Given the description of an element on the screen output the (x, y) to click on. 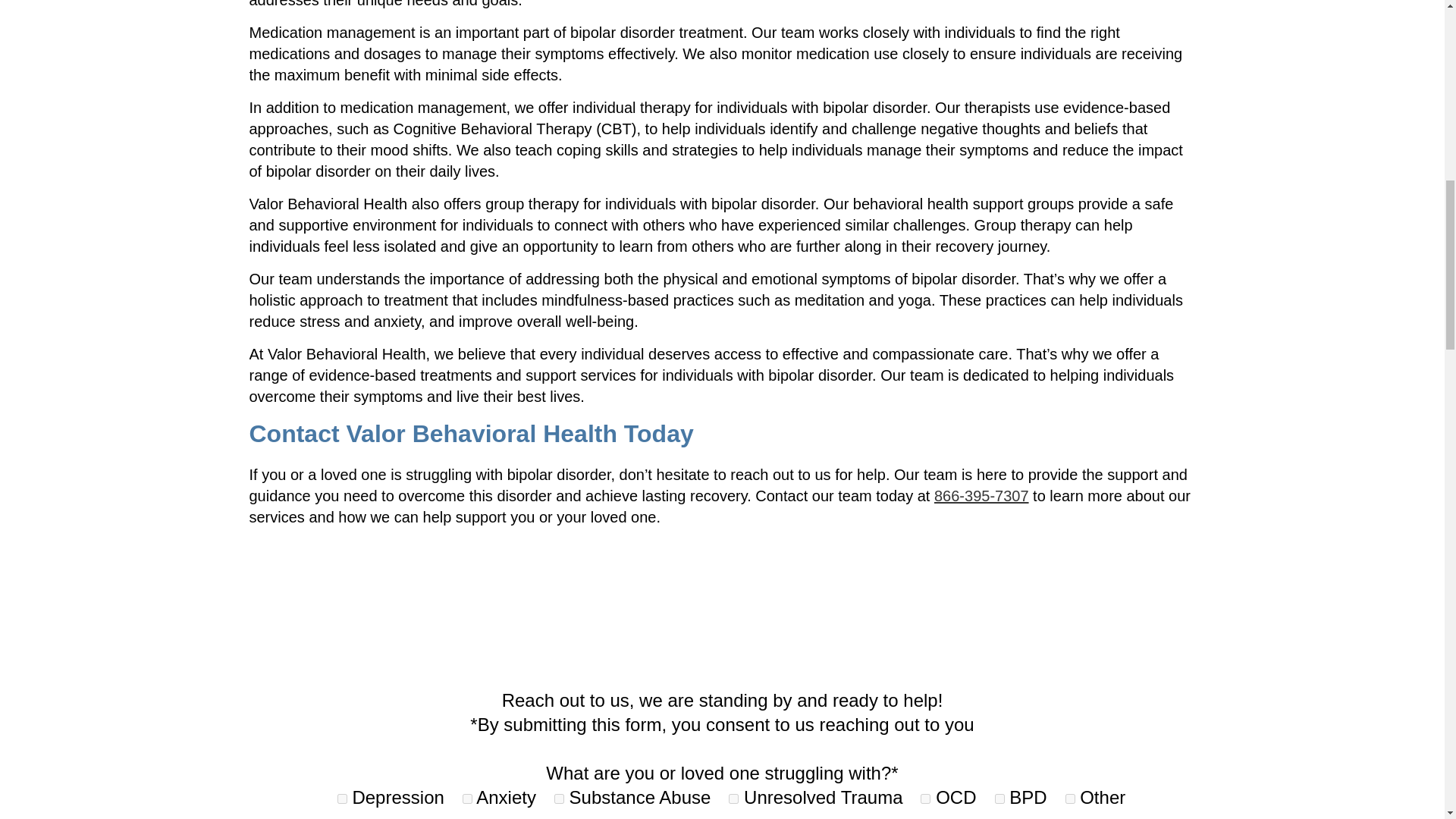
Substance Abuse (559, 798)
Other (1070, 798)
Depression (342, 798)
Unresolved Trauma (733, 798)
BPD (999, 798)
OCD (925, 798)
Anxiety (467, 798)
